Given the description of an element on the screen output the (x, y) to click on. 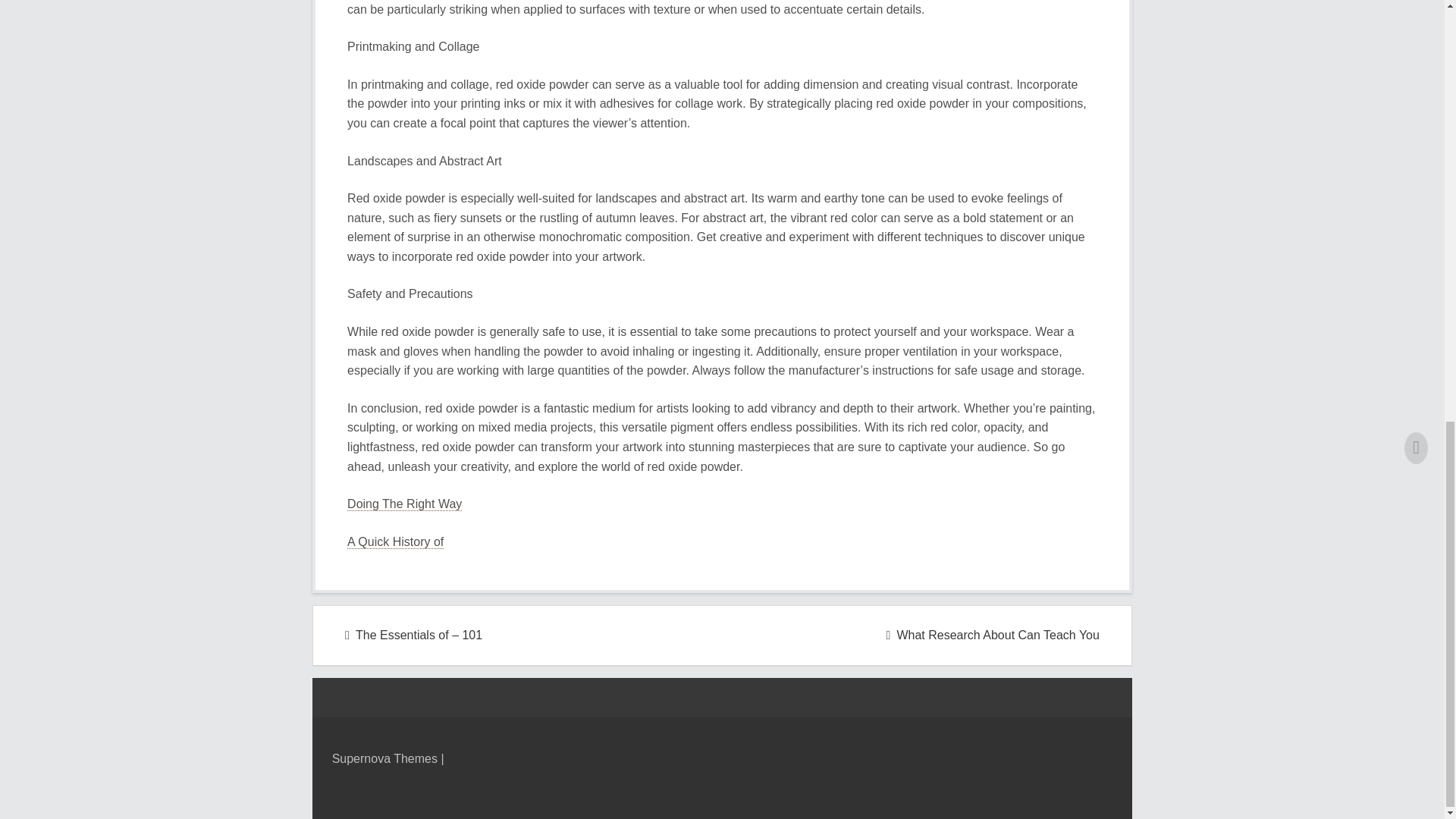
A Quick History of (395, 541)
What Research About Can Teach You (992, 635)
Doing The Right Way (404, 504)
